Given the description of an element on the screen output the (x, y) to click on. 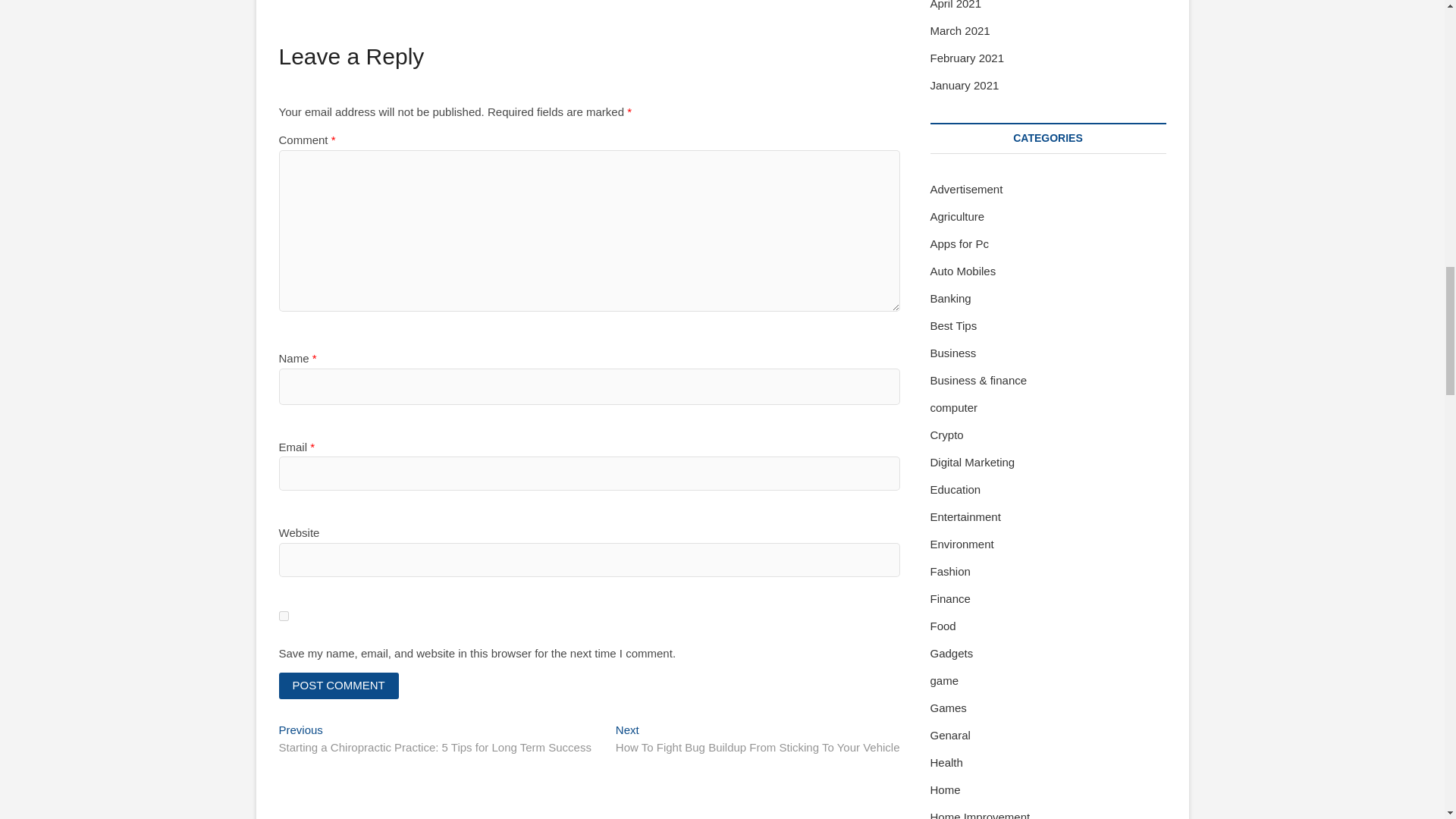
yes (283, 615)
Post Comment (338, 685)
Post Comment (338, 685)
